Given the description of an element on the screen output the (x, y) to click on. 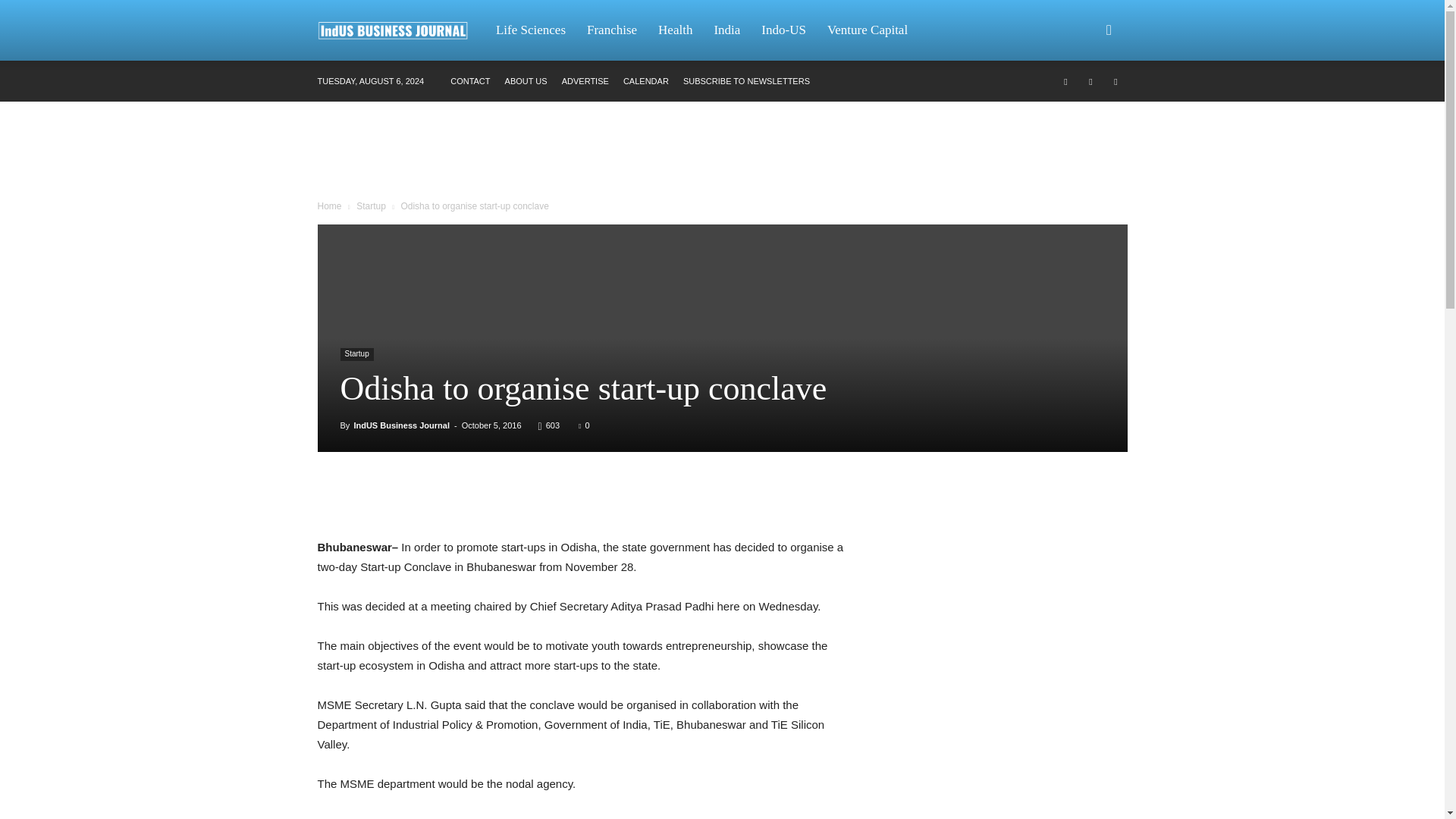
Startup (370, 205)
ADVERTISE (585, 80)
Health (675, 30)
Advertisement (721, 153)
CONTACT (469, 80)
Search (1085, 102)
IndUS Business Journal (401, 424)
CALENDAR (645, 80)
0 (583, 424)
Franchise (611, 30)
Startup (355, 354)
Indo-US (783, 30)
Home (328, 205)
Venture Capital (867, 30)
ABOUT US (526, 80)
